Given the description of an element on the screen output the (x, y) to click on. 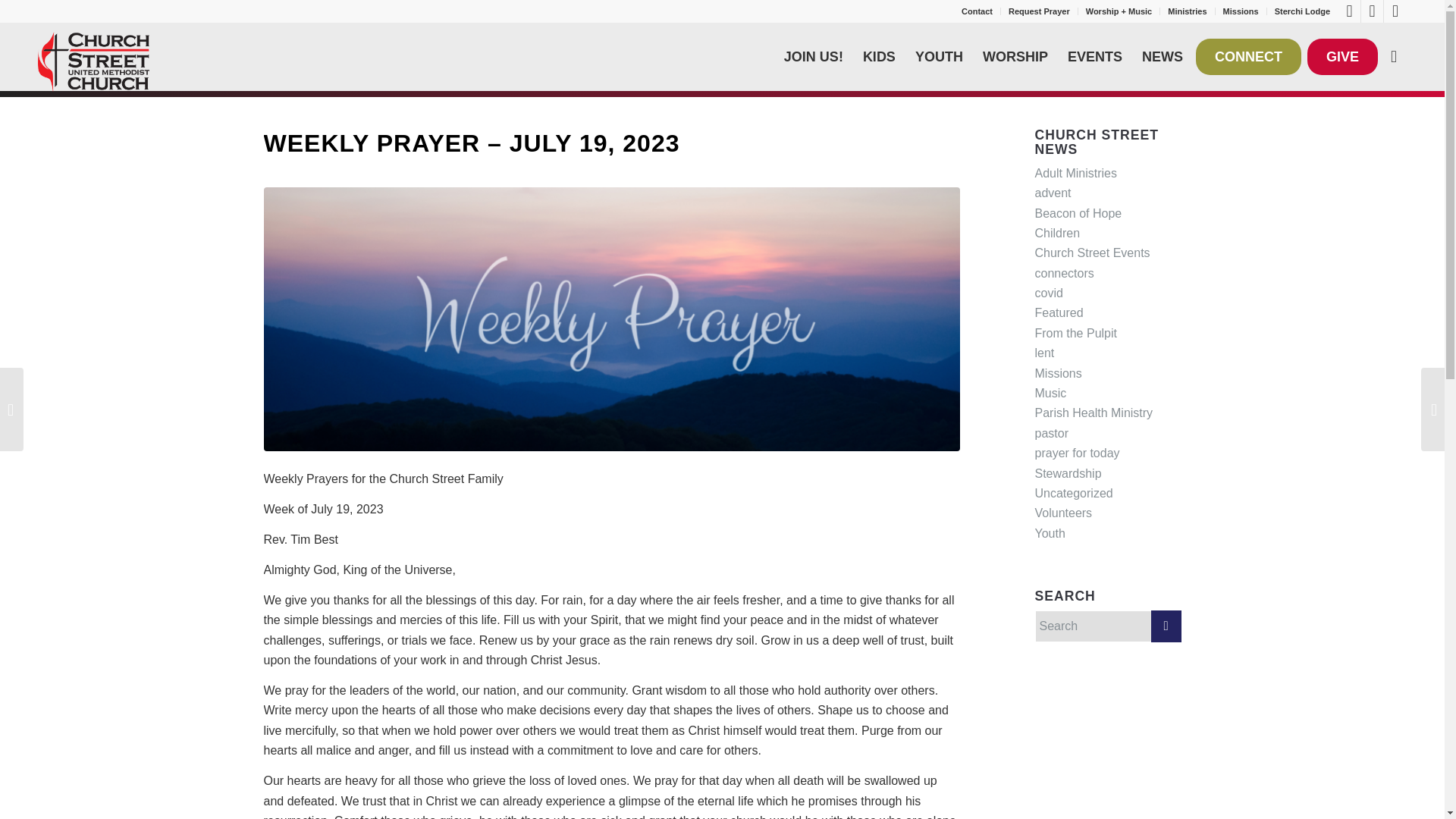
WORSHIP (1015, 56)
Facebook (1348, 11)
Contact (976, 11)
YOUTH (938, 56)
EVENTS (1095, 56)
JOIN US! (813, 56)
NEWS (1162, 56)
CONNECT (1248, 56)
Youtube (1372, 11)
Sterchi Lodge (1302, 11)
Request Prayer (1039, 11)
Instagram (1395, 11)
Ministries (1187, 11)
